Given the description of an element on the screen output the (x, y) to click on. 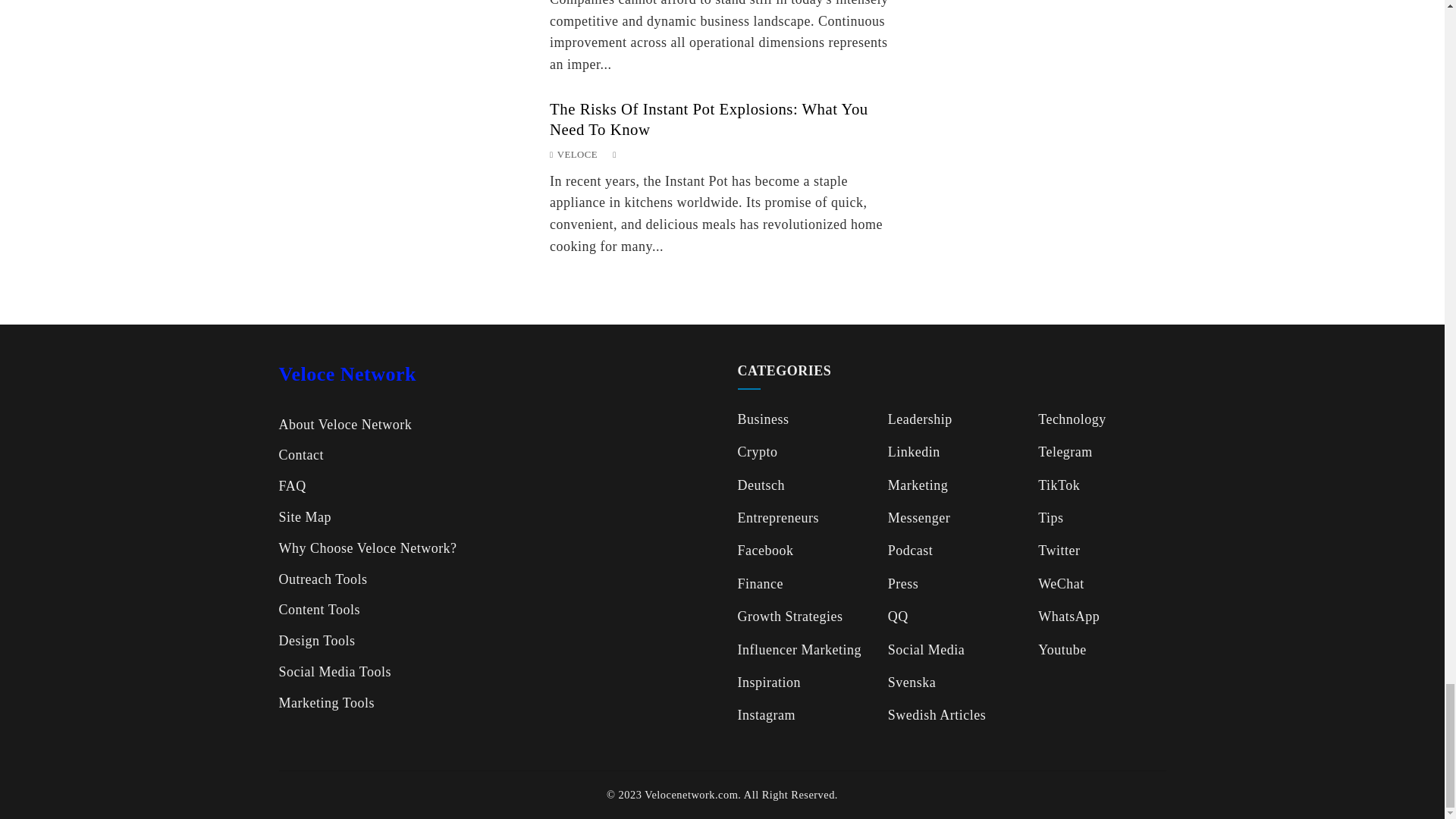
The Risks of Instant Pot Explosions: What You Need to Know (708, 118)
